Given the description of an element on the screen output the (x, y) to click on. 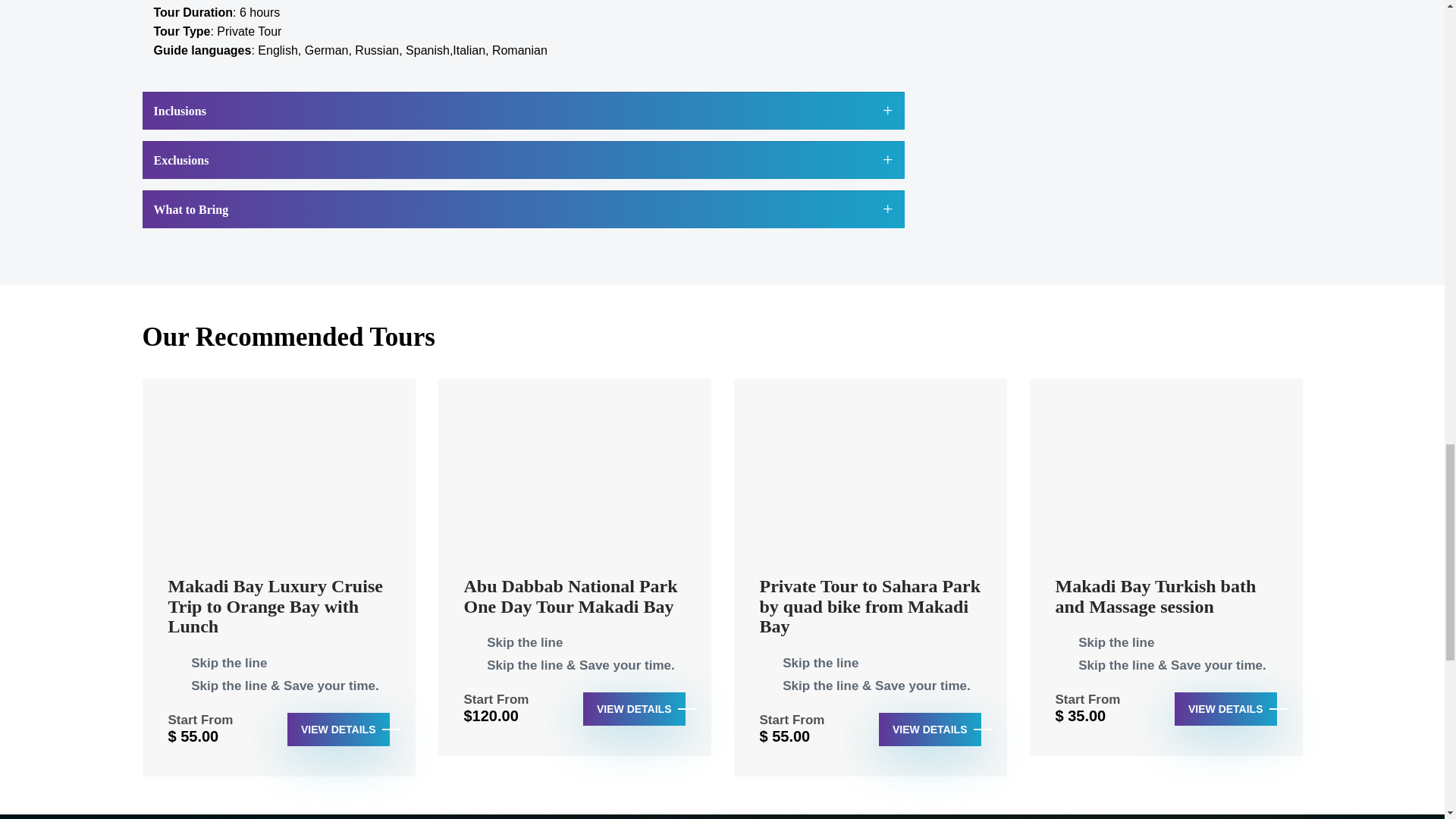
What to Bring (523, 209)
Makadi Bay Luxury Cruise Trip to Orange Bay with Lunch 1 (278, 470)
Private Tour to Sahara Park by quad bike from Makadi Bay 3 (870, 470)
Abu Dabbab National Park One Day Tour Makadi Bay (574, 603)
VIEW DETAILS (338, 729)
VIEW DETAILS (1225, 708)
Abu Dabbab National Park One Day Tour Makadi Bay 2 (574, 470)
VIEW DETAILS (634, 708)
VIEW DETAILS (930, 729)
Makadi Bay Turkish bath and Massage session (1165, 603)
Makadi Bay Turkish bath and Massage session 4 (1166, 470)
Makadi Bay Luxury Cruise Trip to Orange Bay with Lunch (279, 613)
Inclusions (523, 110)
Private Tour to Sahara Park by quad bike from Makadi Bay (870, 613)
Exclusions (523, 159)
